Given the description of an element on the screen output the (x, y) to click on. 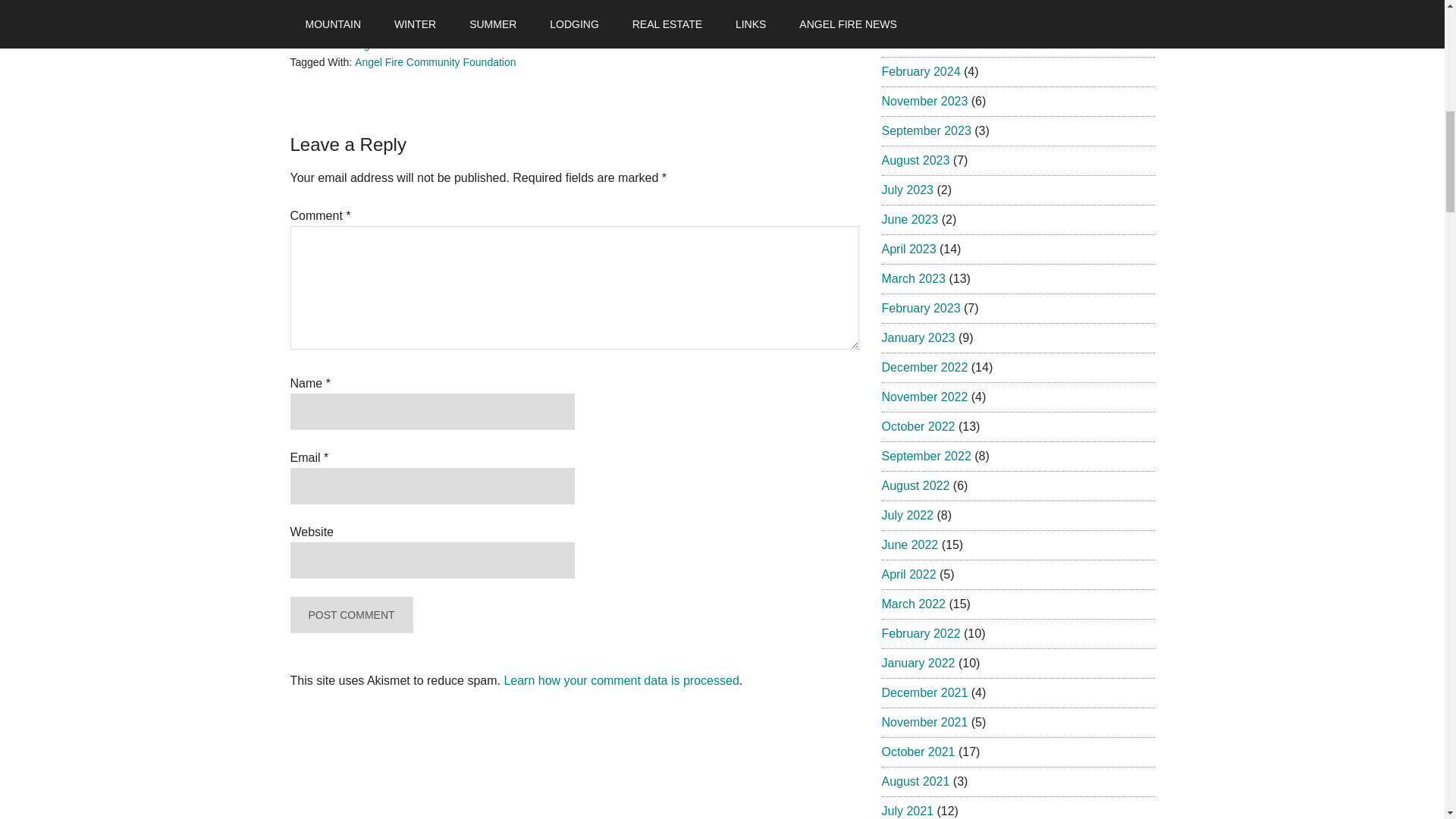
Post Comment (350, 615)
